Given the description of an element on the screen output the (x, y) to click on. 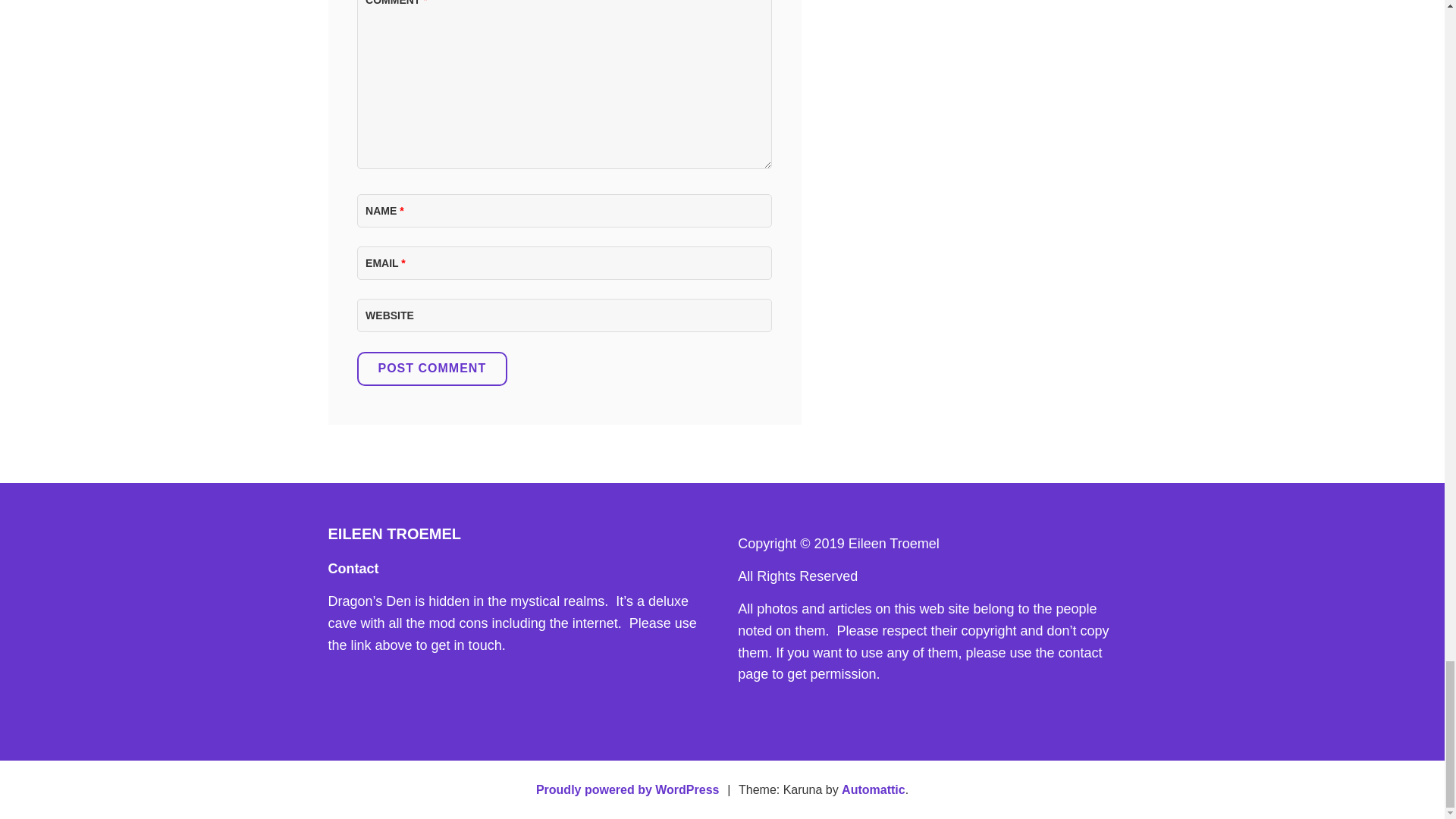
Post Comment (431, 369)
